Given the description of an element on the screen output the (x, y) to click on. 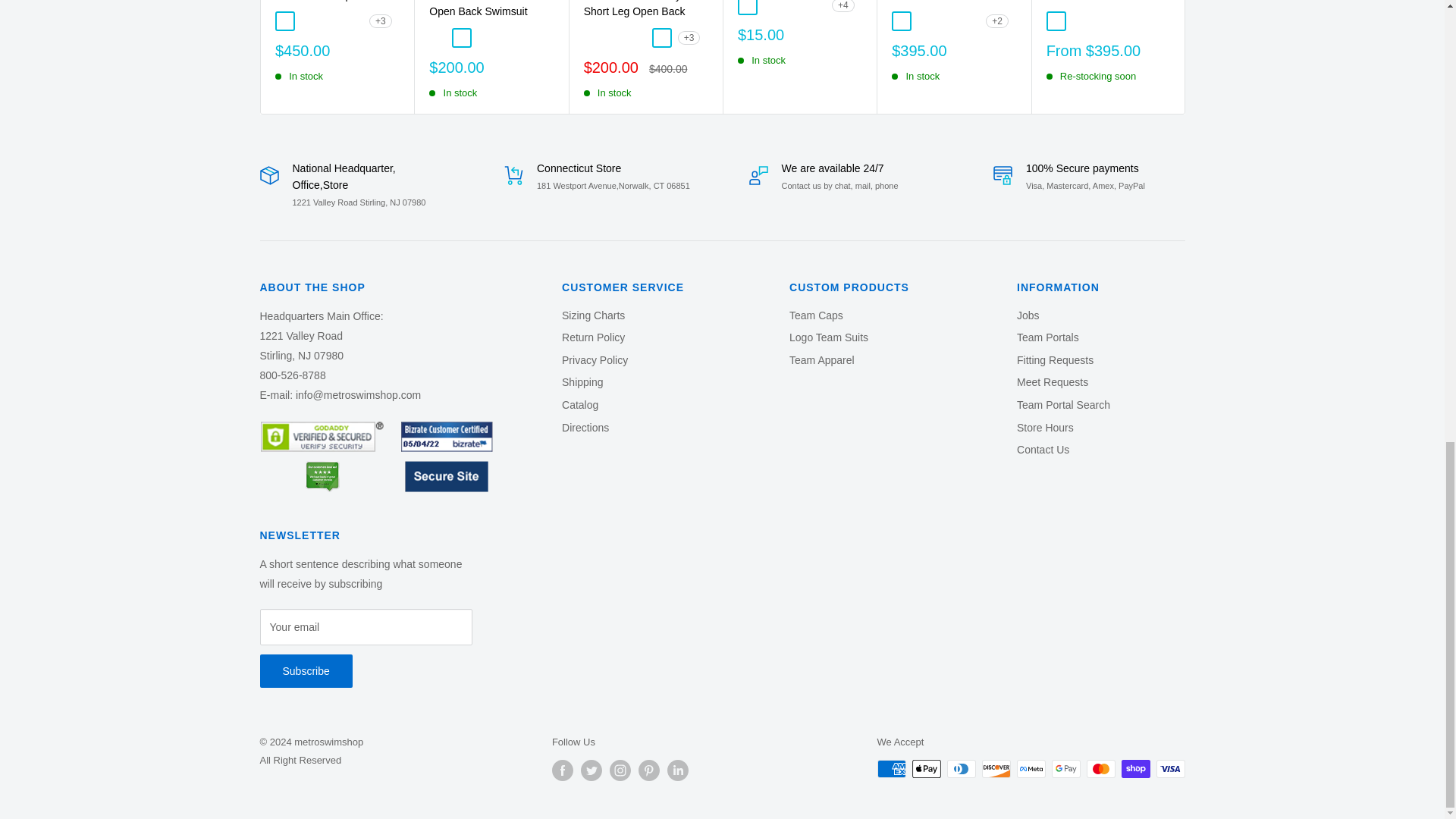
Black-Black-Gold (284, 20)
Electric Blue-Dark Grey-Fluo Y (329, 20)
Jessica Long (352, 20)
